Given the description of an element on the screen output the (x, y) to click on. 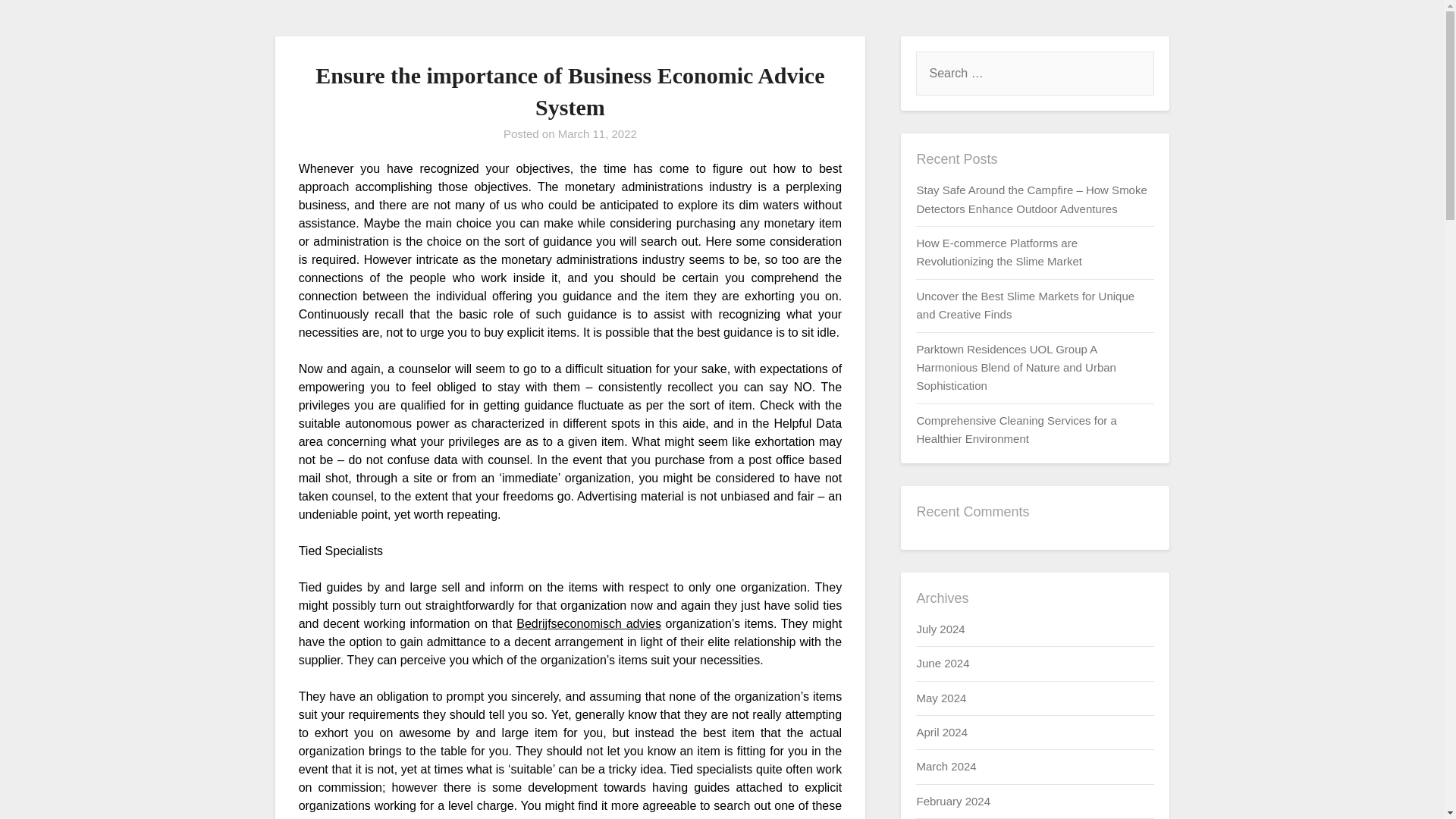
June 2024 (942, 662)
March 2024 (945, 766)
April 2024 (941, 731)
Search (37, 22)
Uncover the Best Slime Markets for Unique and Creative Finds (1024, 305)
Bedrijfseconomisch advies (588, 623)
March 11, 2022 (597, 133)
February 2024 (952, 800)
Comprehensive Cleaning Services for a Healthier Environment (1015, 429)
May 2024 (940, 697)
July 2024 (939, 628)
